Given the description of an element on the screen output the (x, y) to click on. 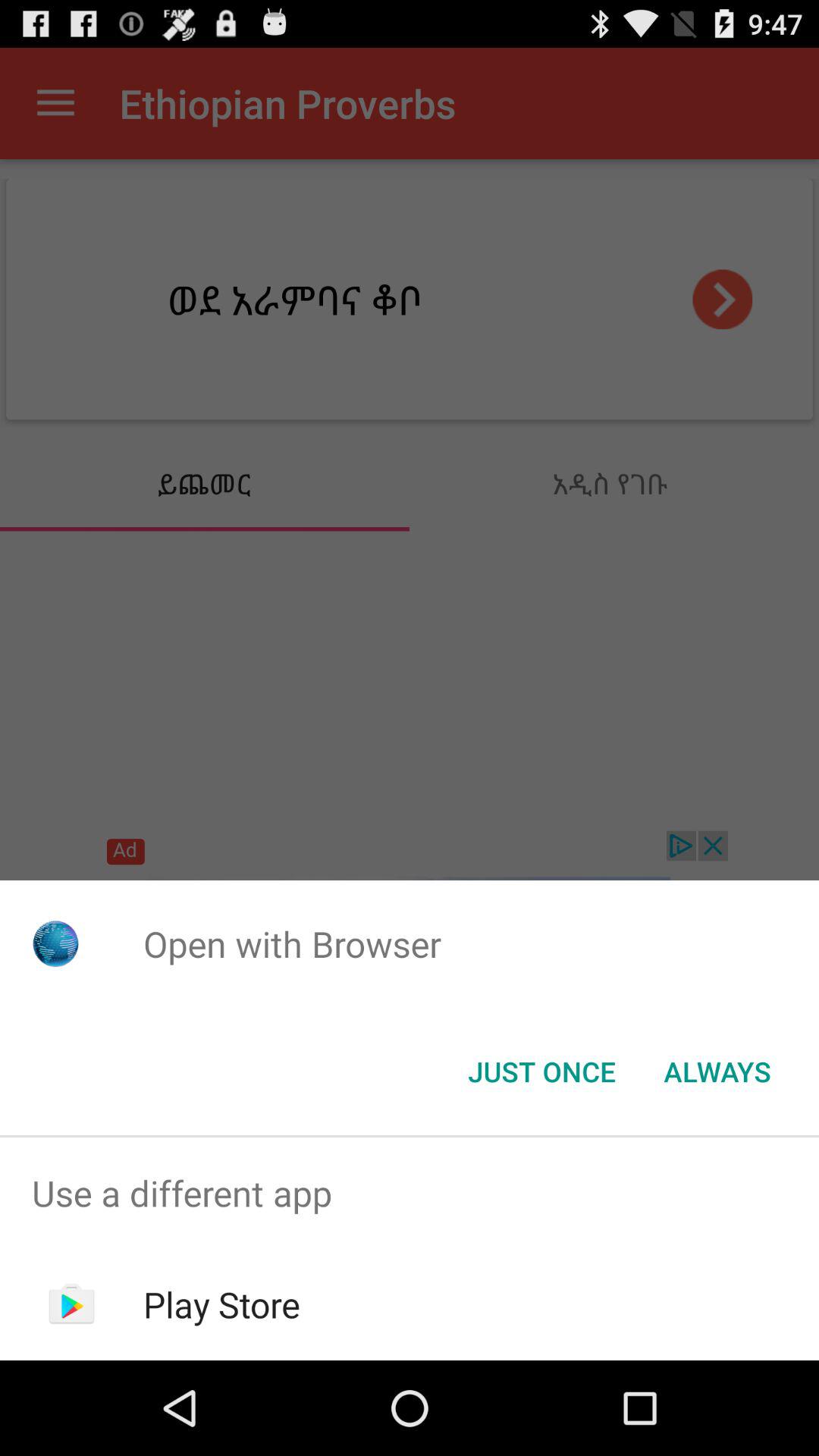
click item at the bottom right corner (717, 1071)
